Given the description of an element on the screen output the (x, y) to click on. 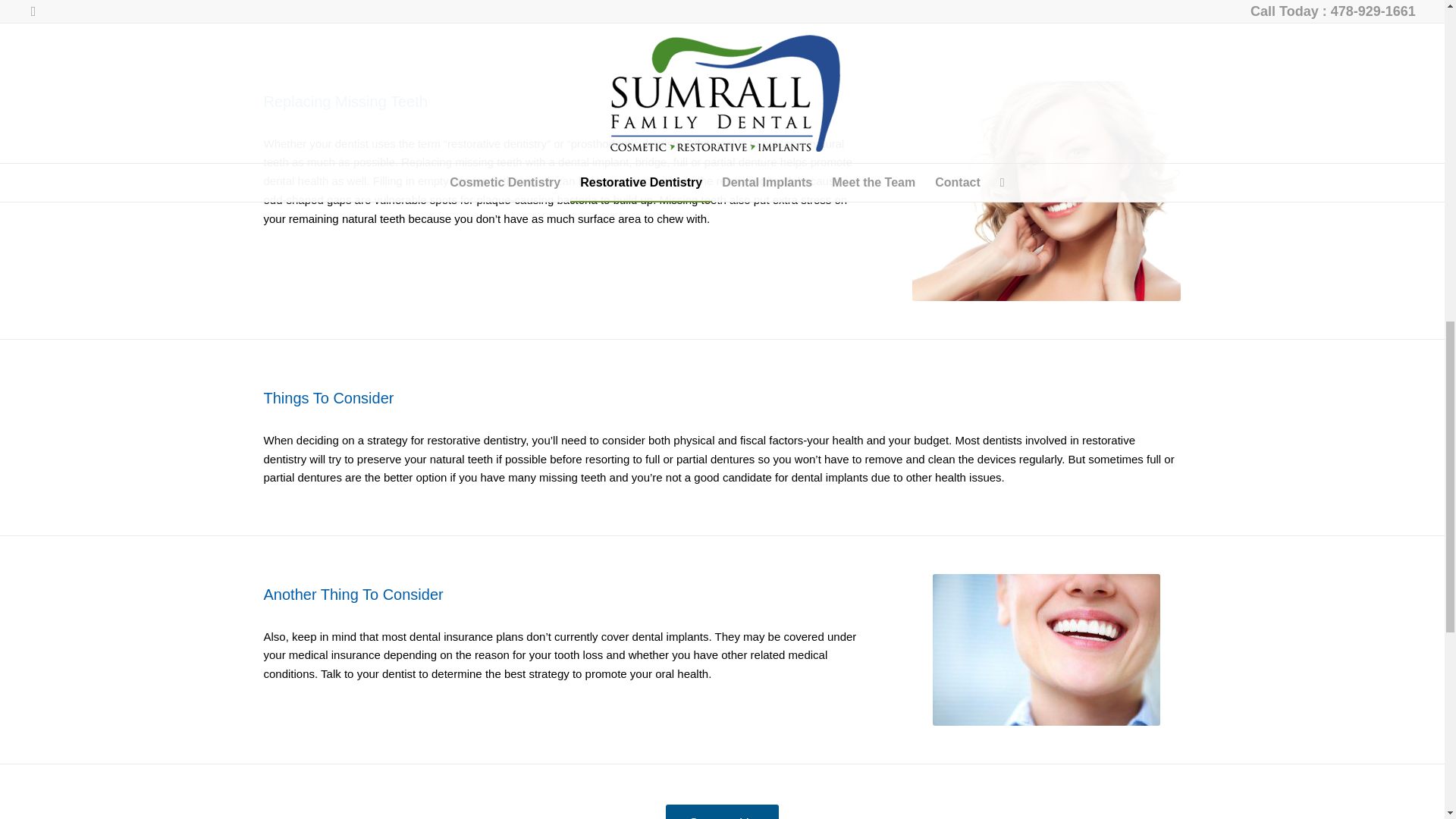
Contact Us (721, 811)
whiteing (1046, 191)
bonding3 (1046, 649)
